Given the description of an element on the screen output the (x, y) to click on. 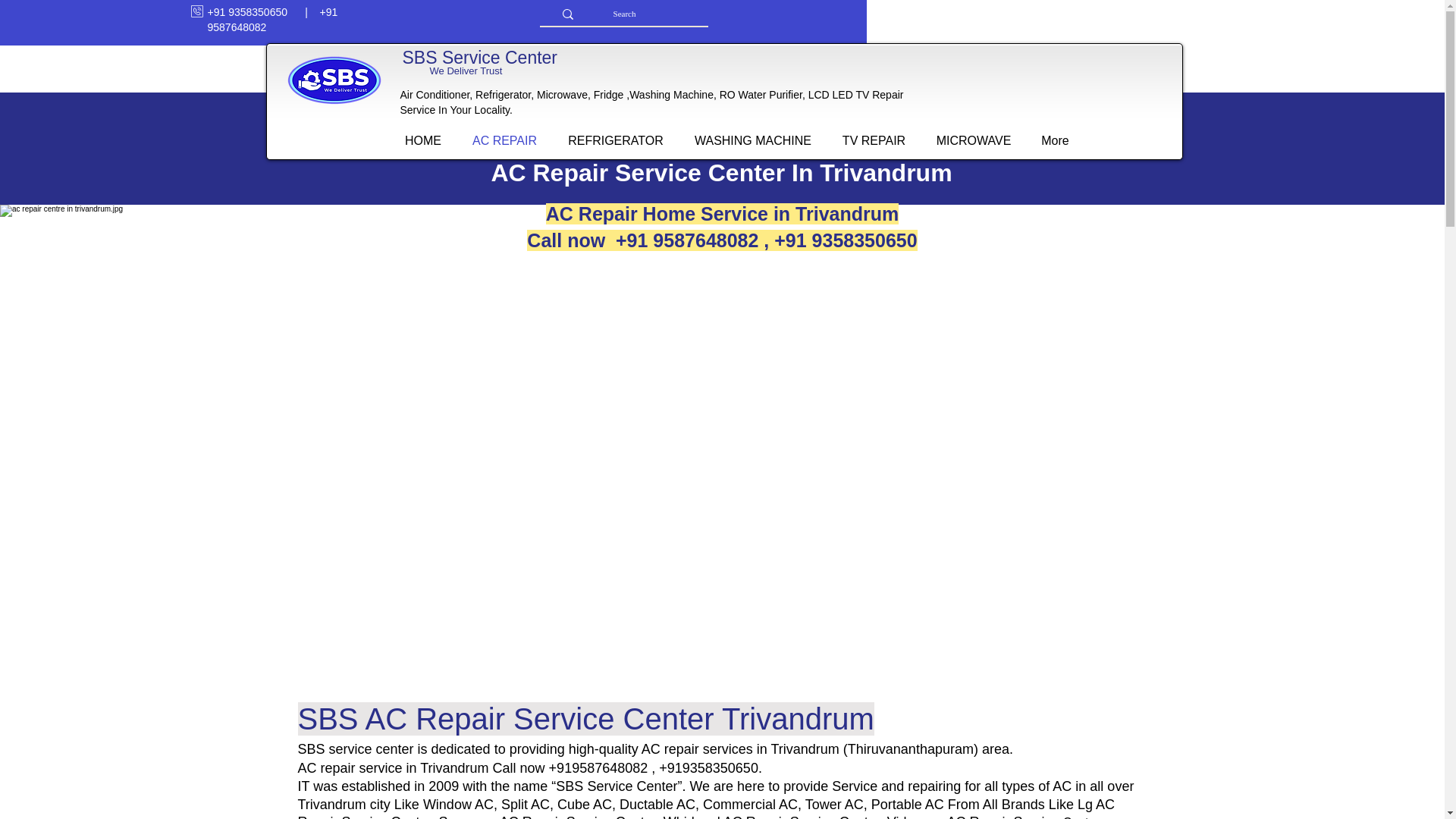
TV REPAIR (873, 140)
MICROWAVE (973, 140)
AC REPAIR (504, 140)
WASHING MACHINE (753, 140)
REFRIGERATOR (614, 140)
HOME (423, 140)
